Given the description of an element on the screen output the (x, y) to click on. 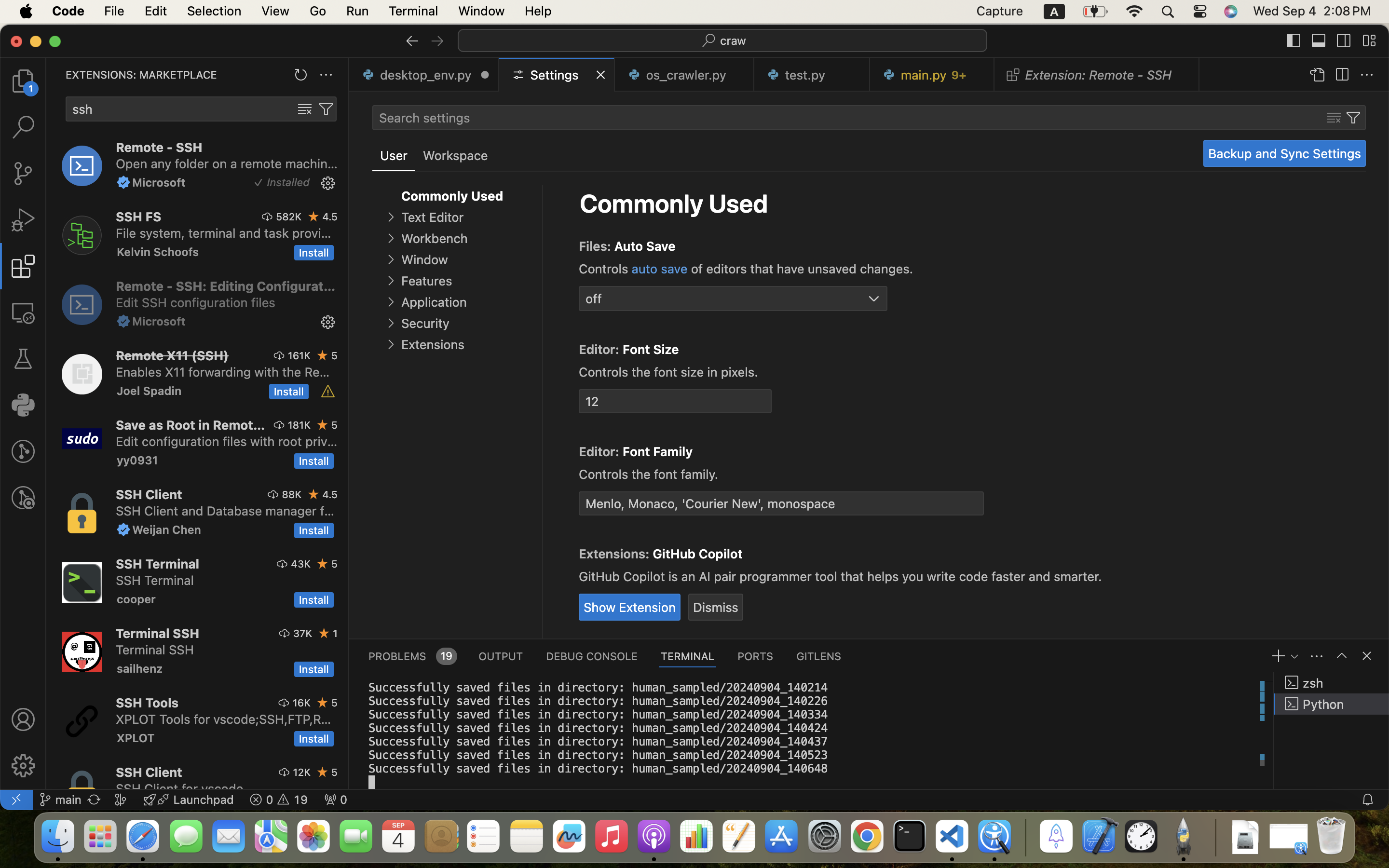
0 DEBUG CONSOLE Element type: AXRadioButton (591, 655)
0 main.py   9+ Element type: AXRadioButton (932, 74)
582K Element type: AXStaticText (288, 216)
 Element type: AXStaticText (327, 391)
Application Element type: AXStaticText (433, 302)
